Given the description of an element on the screen output the (x, y) to click on. 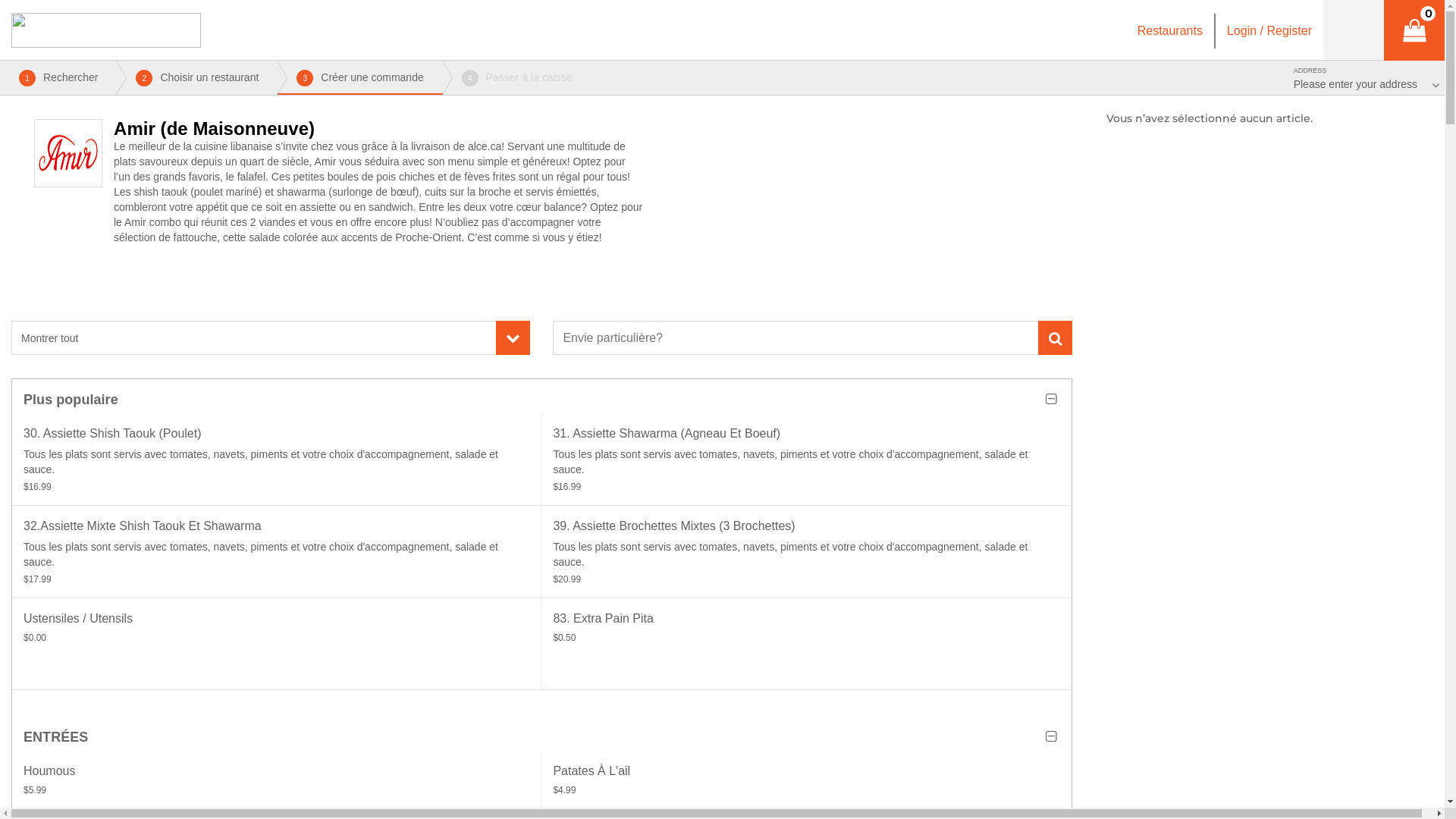
Login / Register Element type: text (1269, 30)
Amir (de Maisonneuve) Element type: hover (68, 153)
Ustensiles / Utensils
$0.00 Element type: text (276, 644)
Plus populaire
  Element type: text (541, 398)
0 Element type: text (1413, 30)
2
Choisir un restaurant Element type: text (196, 77)
1
Rechercher Element type: text (58, 77)
Restaurants Element type: text (1170, 30)
83. Extra Pain Pita
$0.50 Element type: text (805, 644)
